Given the description of an element on the screen output the (x, y) to click on. 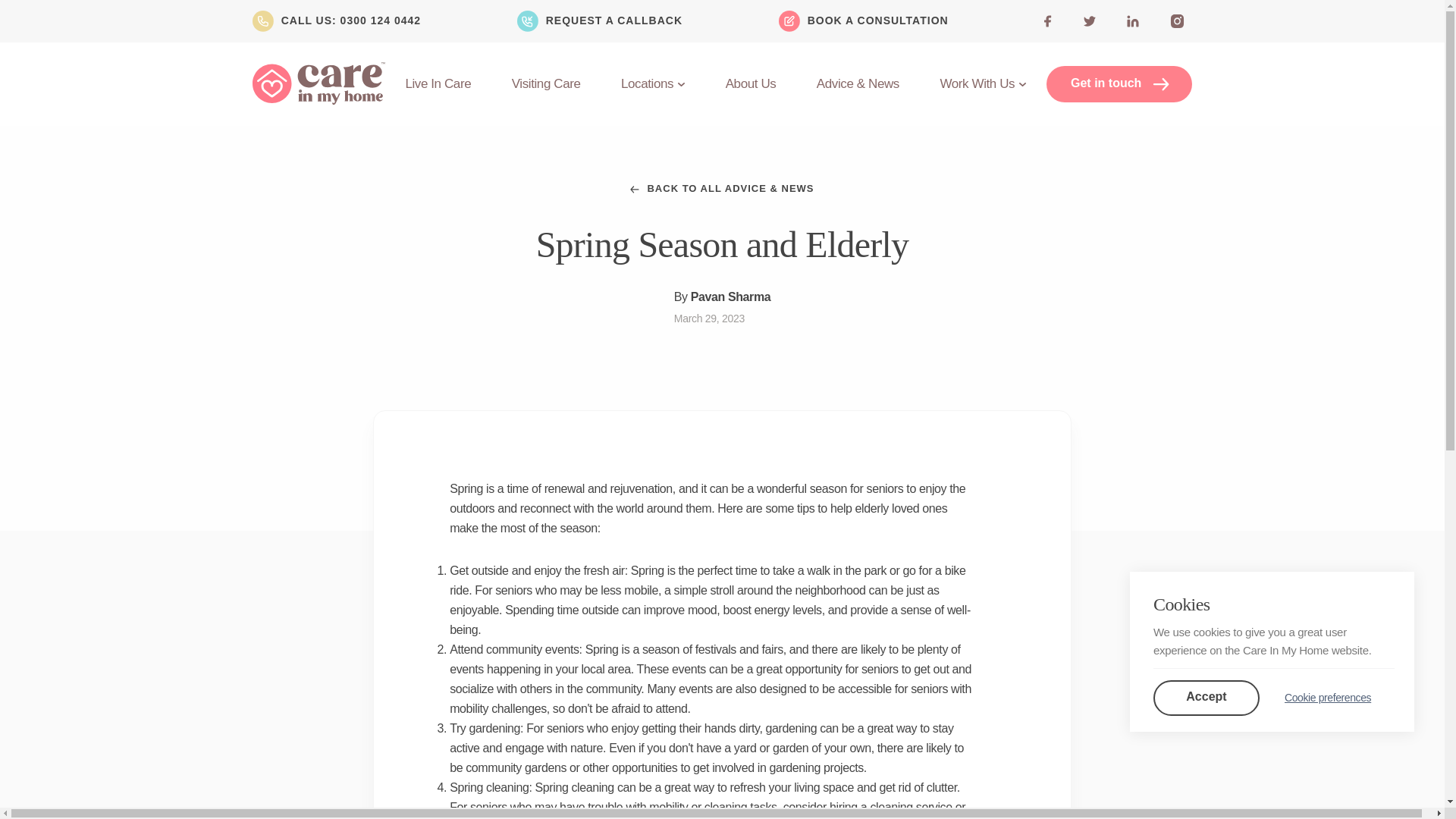
REQUEST A CALLBACK (599, 20)
BOOK A CONSULTATION (863, 20)
About Us (750, 83)
Get in touch (1119, 84)
Visiting Care (546, 83)
CALL US: 0300 124 0442 (350, 20)
Live In Care (437, 83)
